Given the description of an element on the screen output the (x, y) to click on. 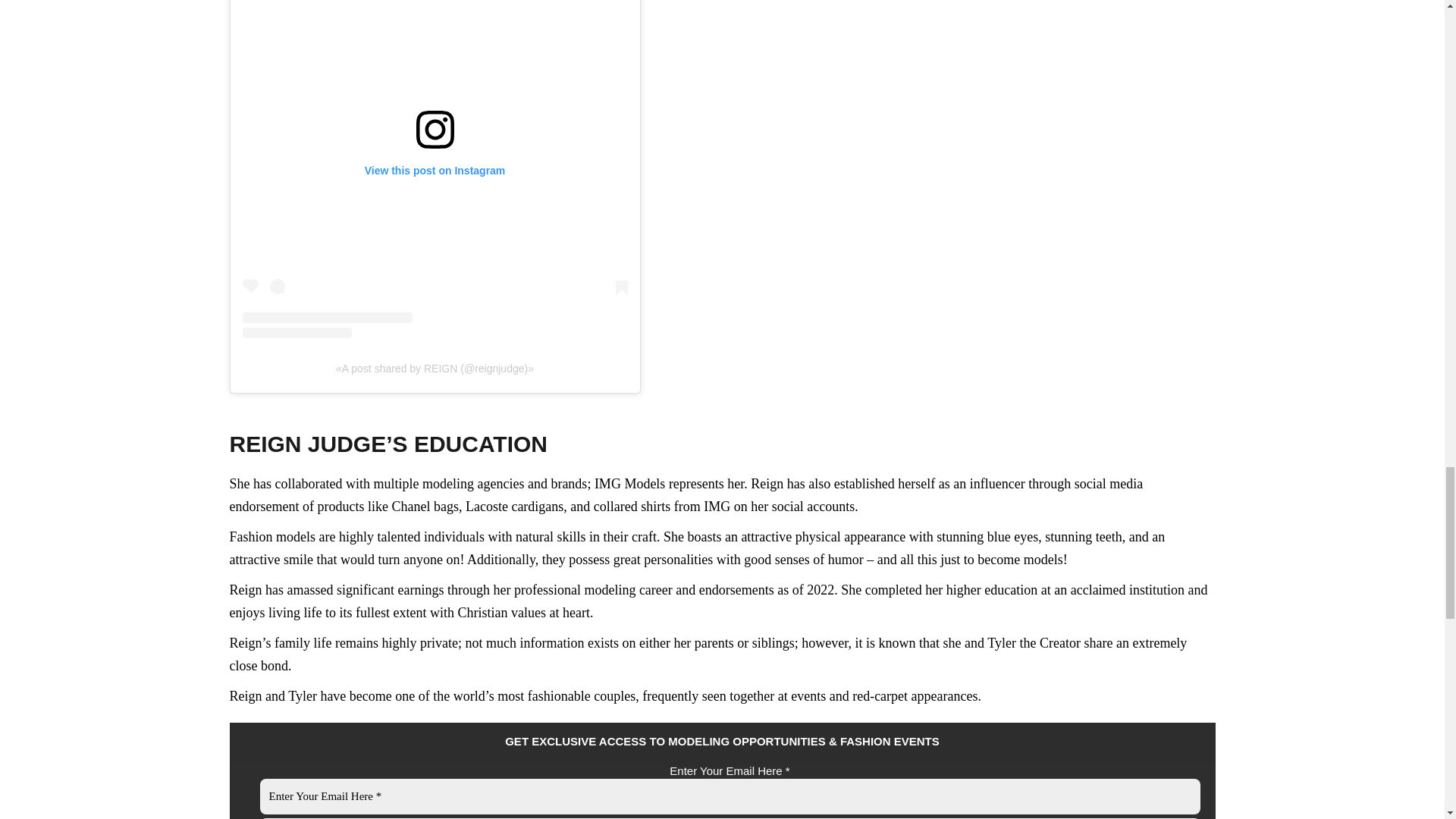
Enter Your Email Here (729, 796)
